Given the description of an element on the screen output the (x, y) to click on. 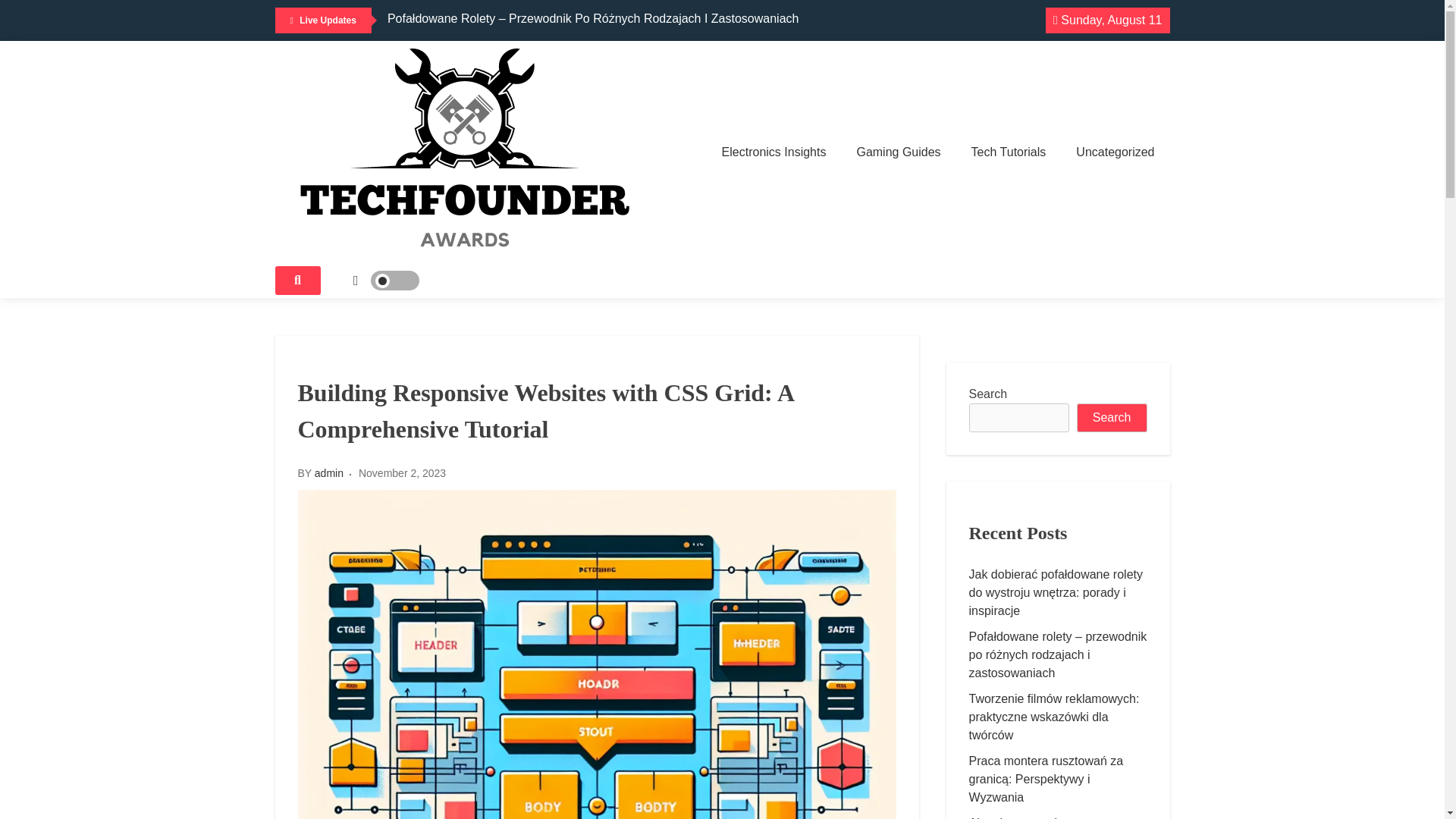
Electronics Insights (773, 152)
Game walkthroughs (1032, 196)
Reviews (782, 196)
Gaming Guides (898, 152)
techfounderawards (372, 278)
Tech Tutorials (1008, 152)
Uncategorized (1115, 152)
Console setup guide (916, 196)
Search (1112, 417)
admin (328, 472)
